Given the description of an element on the screen output the (x, y) to click on. 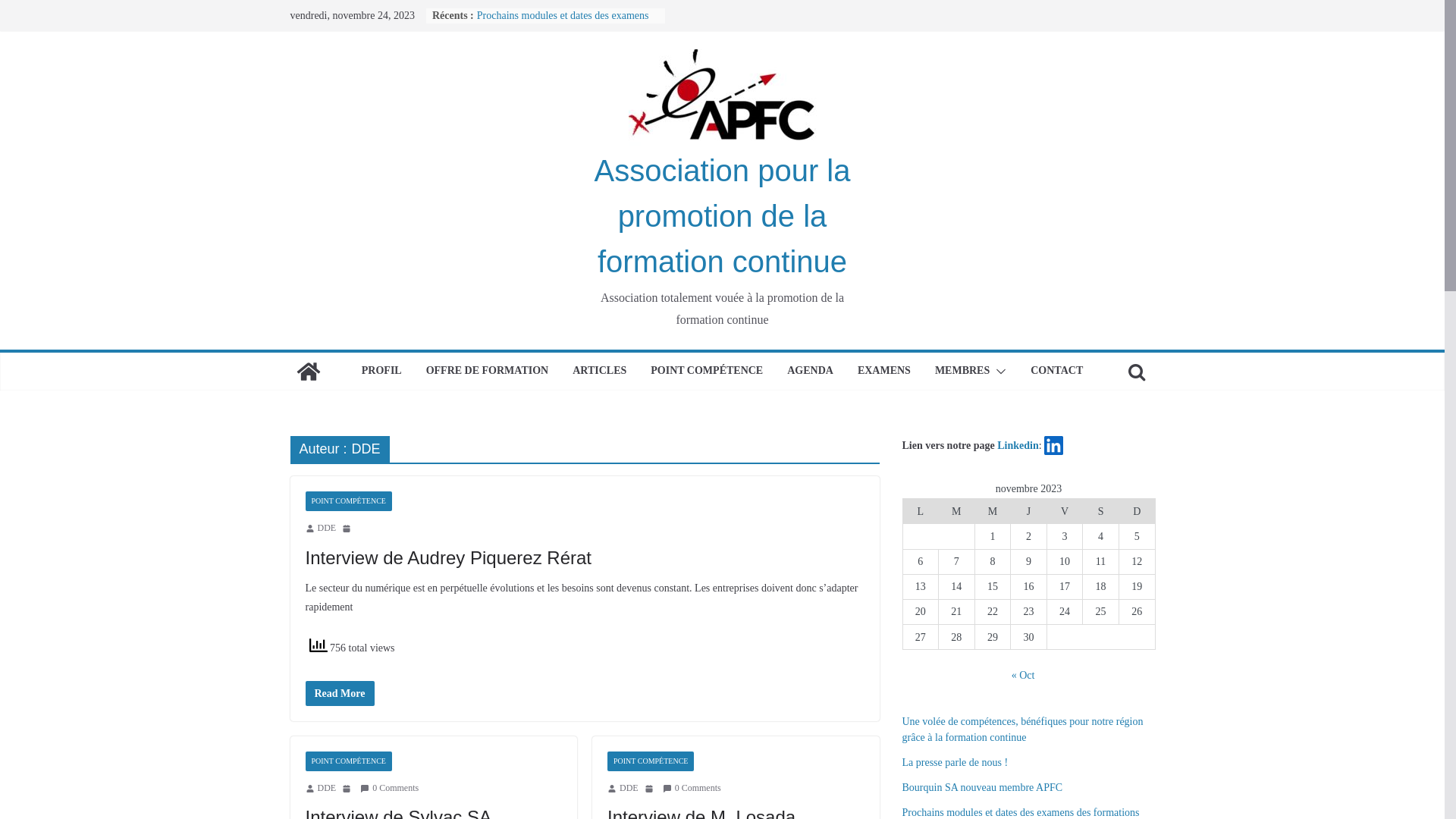
CONTACT Element type: text (1056, 371)
DDE Element type: text (628, 788)
La presse parle de nous ! Element type: text (955, 762)
9 h 45 min Element type: hover (348, 528)
6 h 24 min Element type: hover (650, 788)
Association pour la promotion de la formation continue Element type: text (722, 215)
ARTICLES Element type: text (599, 371)
Index Machines-outils (Suisse) SA nouveau membre APFC Element type: text (550, 22)
PROFIL Element type: text (381, 371)
Bourquin SA nouveau membre APFC Element type: text (982, 787)
AGENDA Element type: text (810, 371)
0 Comments Element type: text (389, 788)
Linkedin Element type: text (1017, 445)
DDE Element type: text (325, 788)
DDE Element type: text (325, 528)
EXAMENS Element type: text (883, 371)
OFFRE DE FORMATION Element type: text (487, 371)
MEMBRES Element type: text (962, 371)
Association pour la promotion de la formation continue Element type: hover (307, 371)
0 Comments Element type: text (691, 788)
8 h 18 min Element type: hover (348, 788)
Read More Element type: text (338, 693)
